Given the description of an element on the screen output the (x, y) to click on. 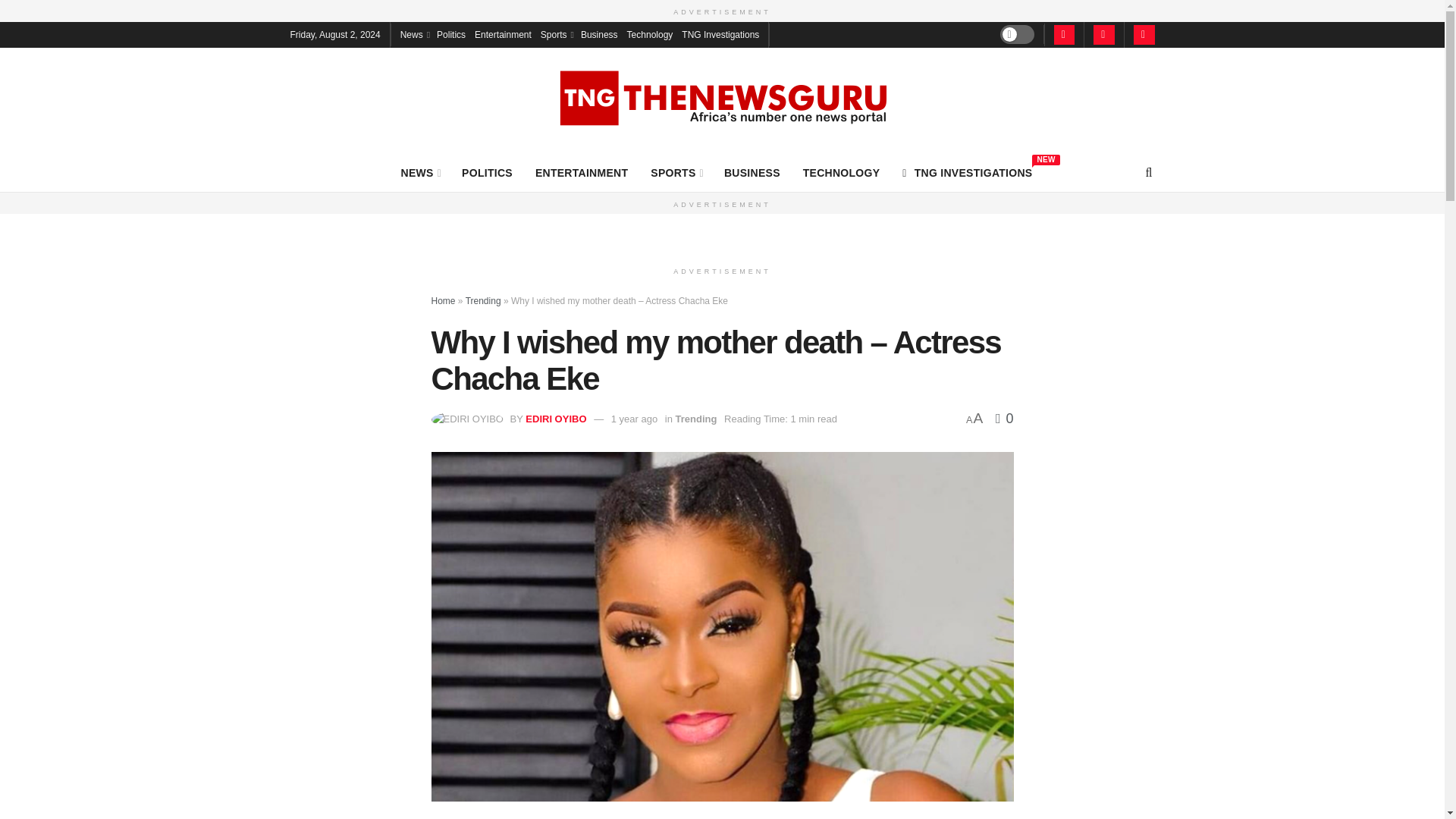
TECHNOLOGY (841, 172)
SPORTS (675, 172)
BUSINESS (751, 172)
Technology (649, 33)
Entertainment (502, 33)
Business (598, 33)
TNG Investigations (719, 33)
News (414, 33)
Sports (556, 33)
ENTERTAINMENT (581, 172)
POLITICS (486, 172)
NEWS (967, 172)
Politics (420, 172)
